Given the description of an element on the screen output the (x, y) to click on. 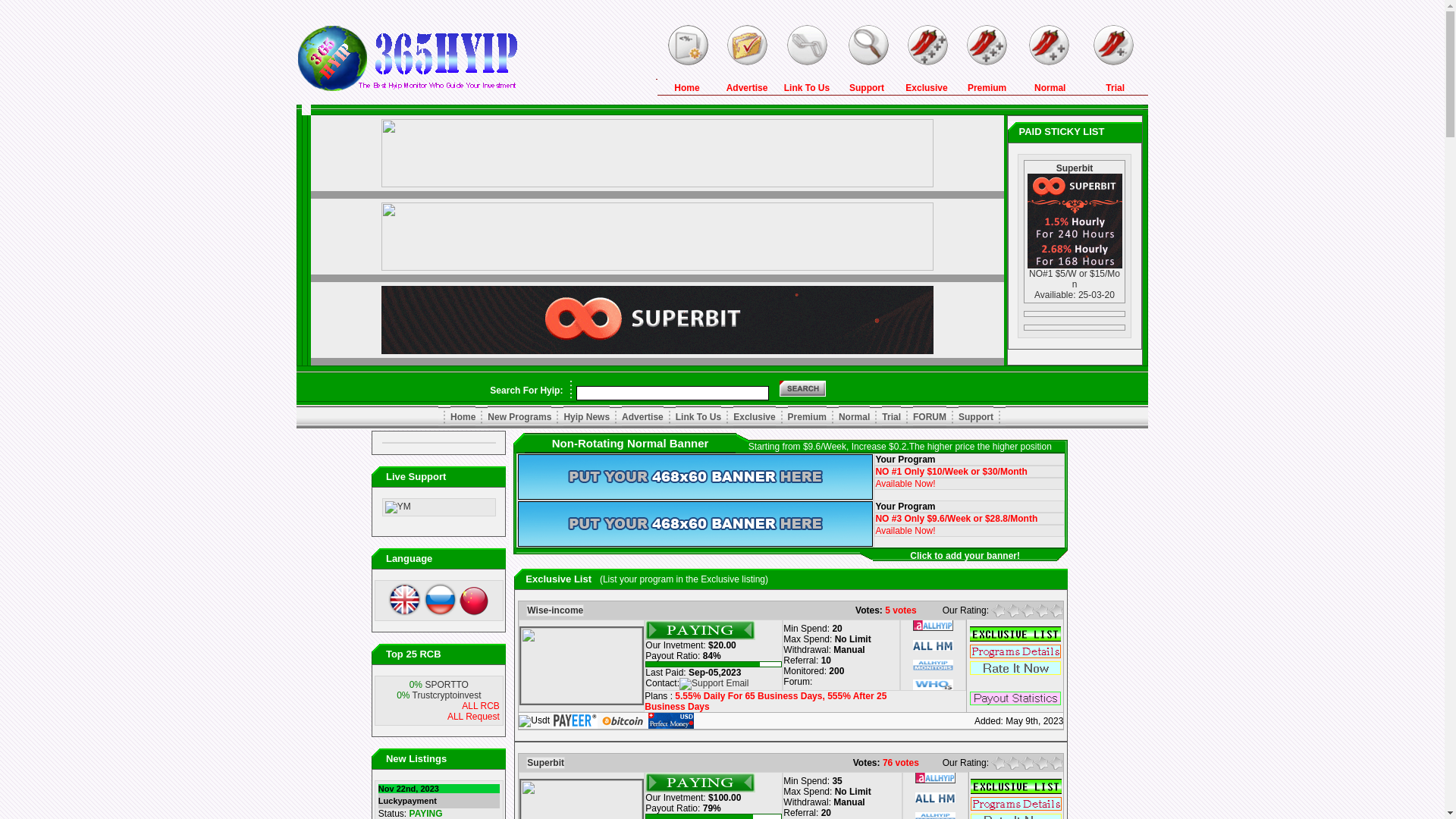
Usdt Element type: hover (533, 720)
Support Element type: text (866, 87)
Payeer Element type: hover (574, 720)
FORUM Element type: text (929, 416)
  Element type: text (1014, 682)
(List your program in the Exclusive listing) Element type: text (683, 578)
ALL Request Element type: text (473, 716)
Click to add your banner! Element type: text (964, 555)
Superbit Element type: text (1074, 167)
Link To Us Element type: text (698, 416)
Home Element type: text (462, 416)
NO#1 $5/W or $15/Mon
Availiable: 25-03-20 Element type: text (1074, 284)
Hyip News Element type: text (586, 416)
Home Element type: text (686, 87)
Wise-income Element type: text (554, 610)
Link To Us Element type: text (806, 87)
Luckypayment Element type: text (407, 800)
Non-Rotating Normal Banner Element type: text (630, 442)
Normal Element type: text (1049, 87)
Trial Element type: text (1114, 87)
Support Element type: text (975, 416)
Superbit Element type: text (545, 762)
Exclusive Element type: text (926, 87)
New Programs Element type: text (519, 416)
Advertise Element type: text (642, 416)
Available Now! Element type: text (905, 483)
PerfectMoney Element type: hover (670, 720)
Premium Element type: text (986, 87)
Normal Element type: text (853, 416)
Available Now! Element type: text (905, 530)
NO #3 Only $9.6/Week or $28.8/Month Element type: text (956, 518)
Premium Element type: text (806, 416)
Bitcoin Element type: hover (623, 720)
Trustcryptoinvest Element type: text (446, 695)
Advertise Element type: text (747, 87)
Trial Element type: text (890, 416)
Exclusive Element type: text (754, 416)
SPORTTO Element type: text (446, 684)
NO #1 Only $10/Week or $30/Month Element type: text (951, 471)
ALL RCB Element type: text (480, 705)
